Given the description of an element on the screen output the (x, y) to click on. 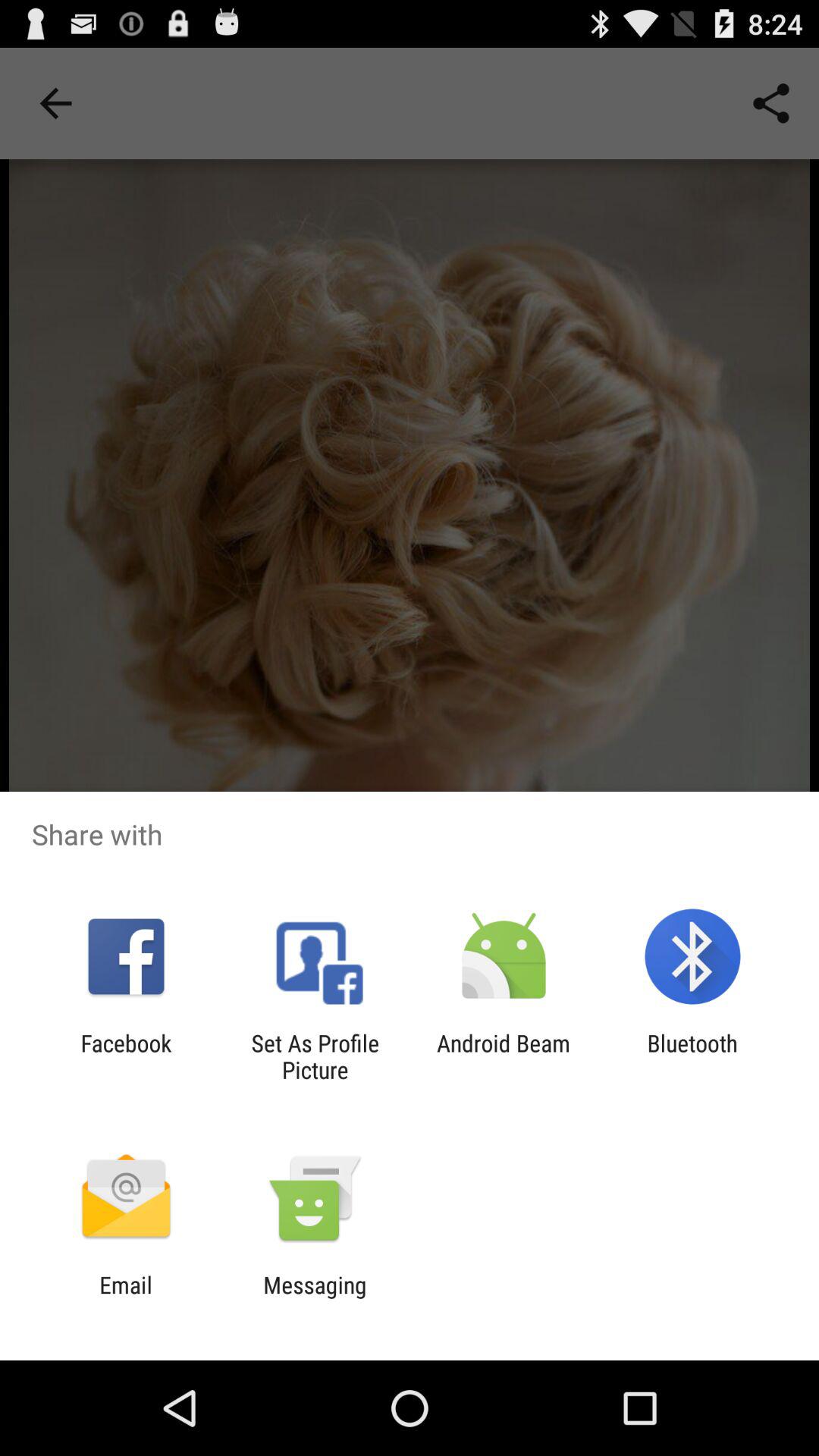
tap the icon next to set as profile app (125, 1056)
